Given the description of an element on the screen output the (x, y) to click on. 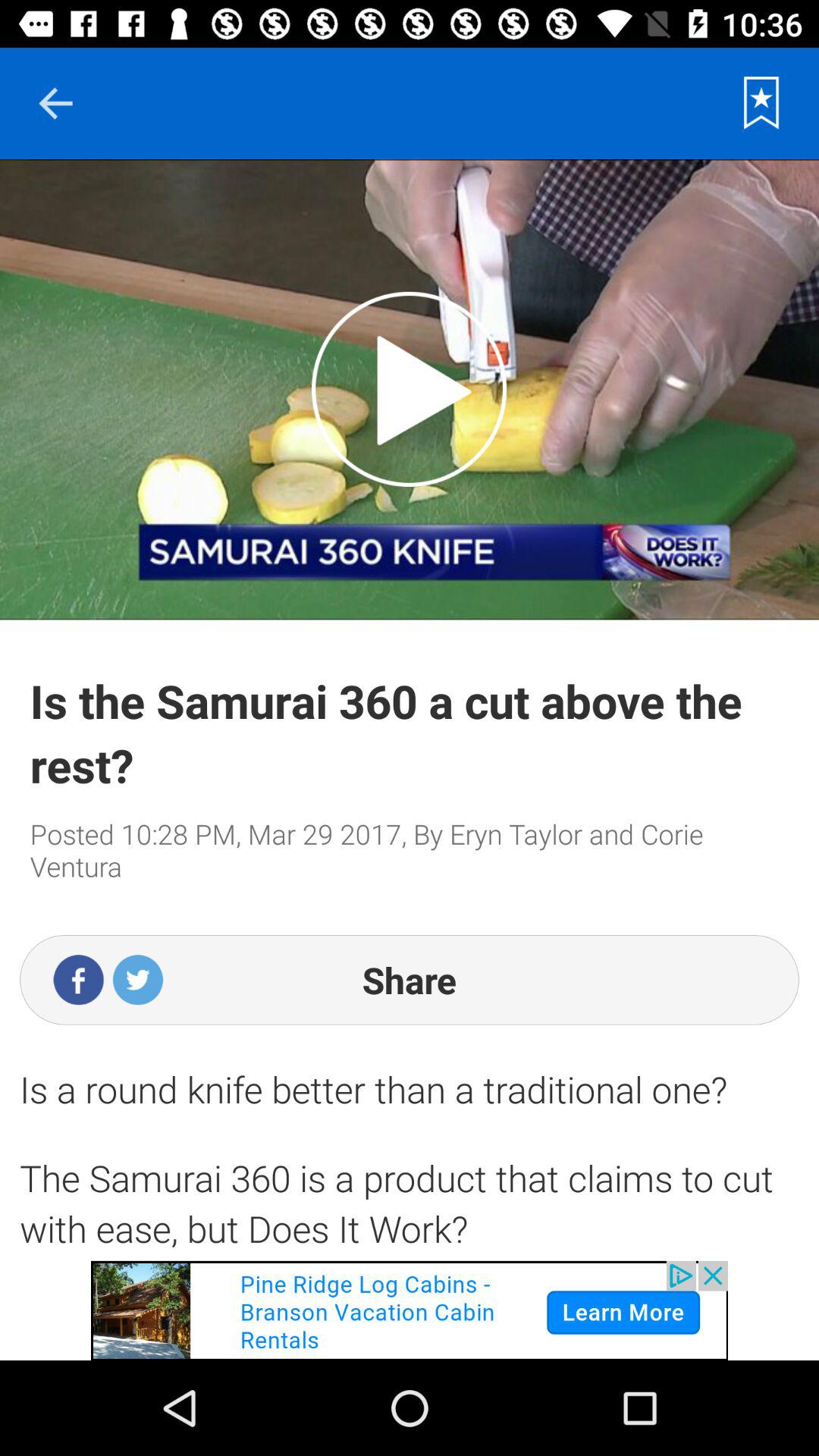
advertisement about rental cabins (409, 1310)
